Given the description of an element on the screen output the (x, y) to click on. 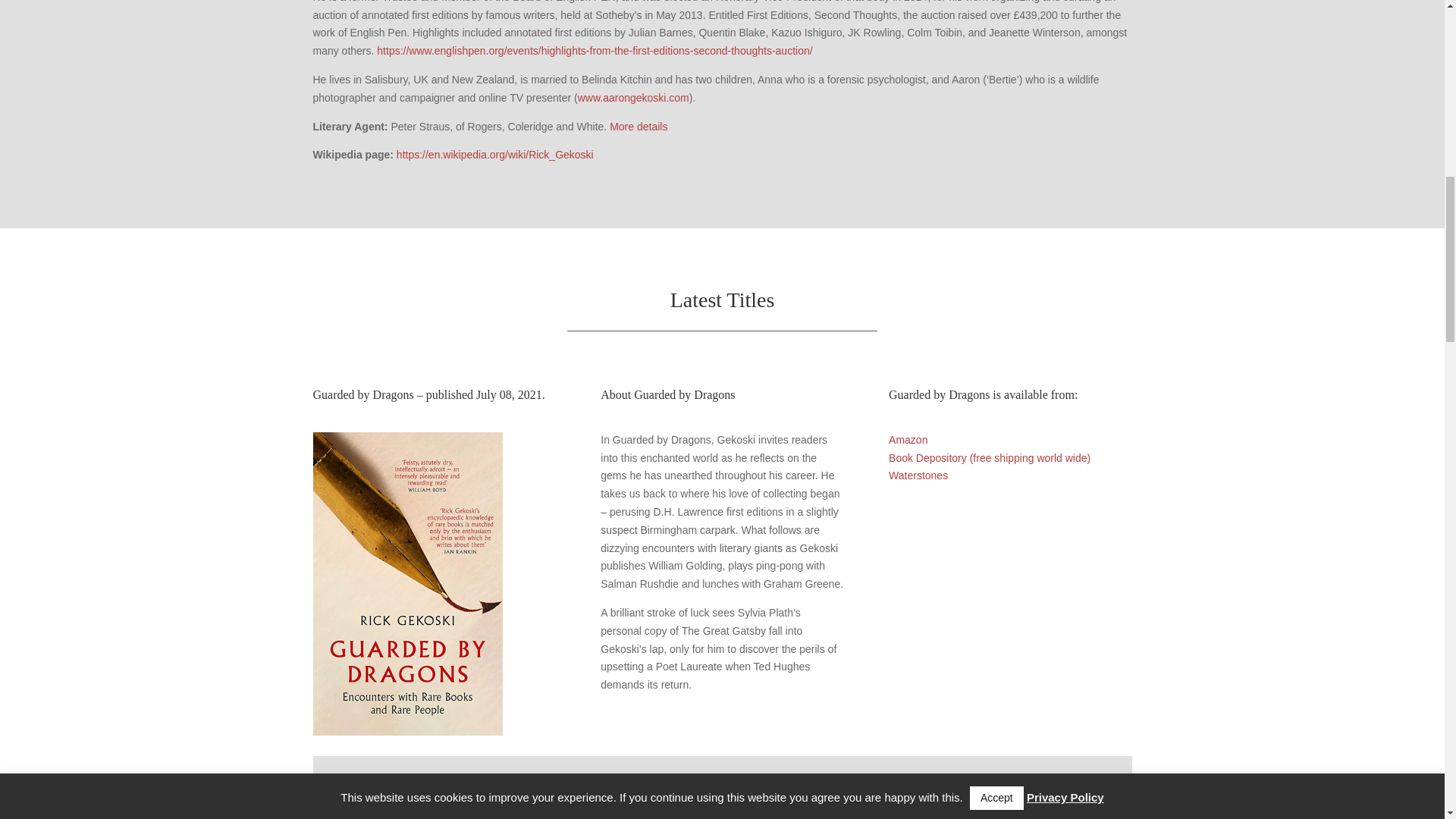
www.aarongekoski.com (633, 97)
Amazon (907, 439)
Waterstones (917, 475)
More details (638, 126)
